Given the description of an element on the screen output the (x, y) to click on. 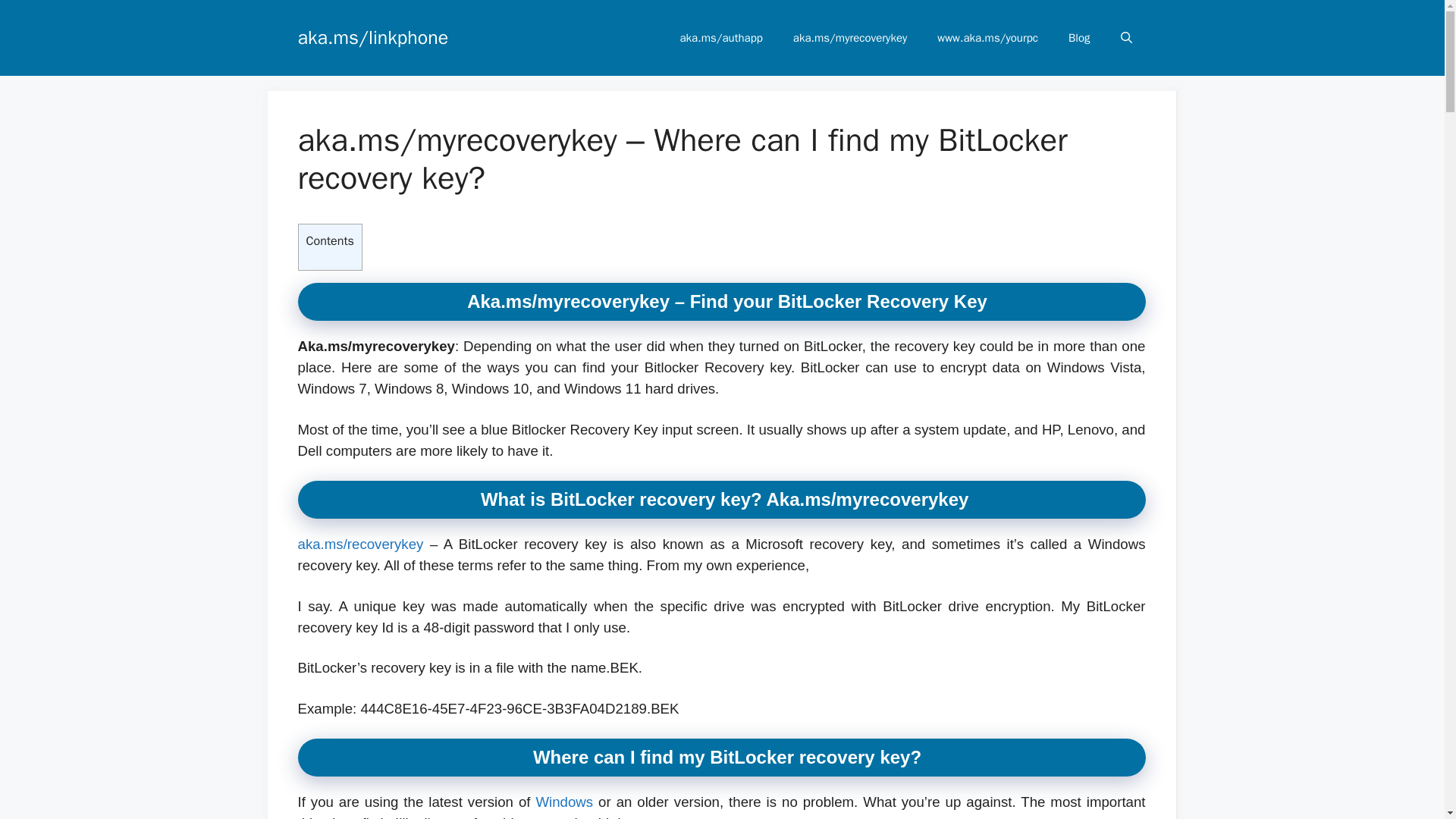
Blog (1078, 37)
Windows (563, 801)
Windows (563, 801)
